Given the description of an element on the screen output the (x, y) to click on. 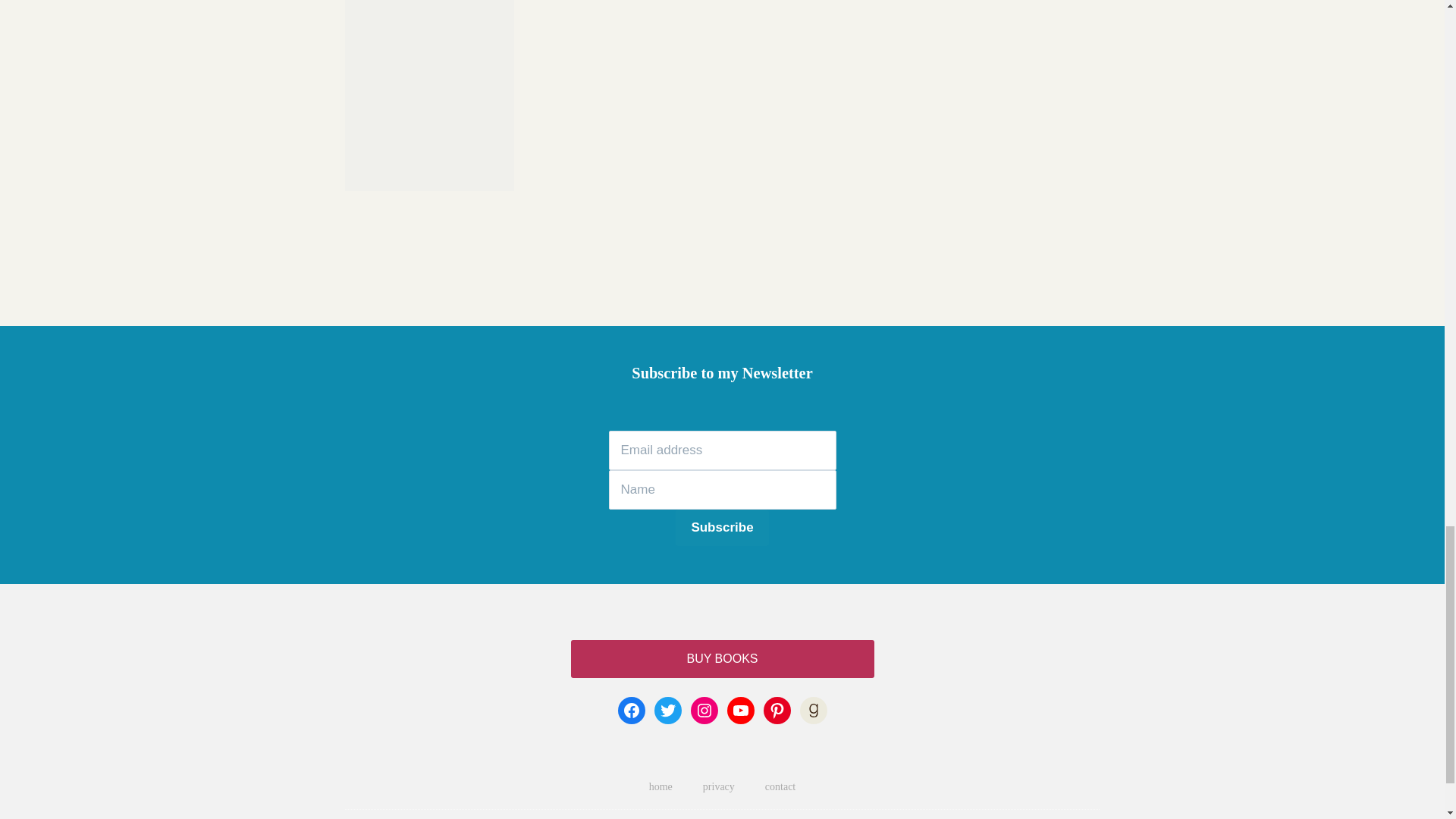
Subscribe (721, 527)
home (660, 786)
Twitter (667, 709)
contact (779, 786)
privacy (718, 786)
Subscribe (721, 527)
BUY BOOKS (721, 658)
Facebook (631, 709)
Instagram (703, 709)
Pinterest (776, 709)
